Given the description of an element on the screen output the (x, y) to click on. 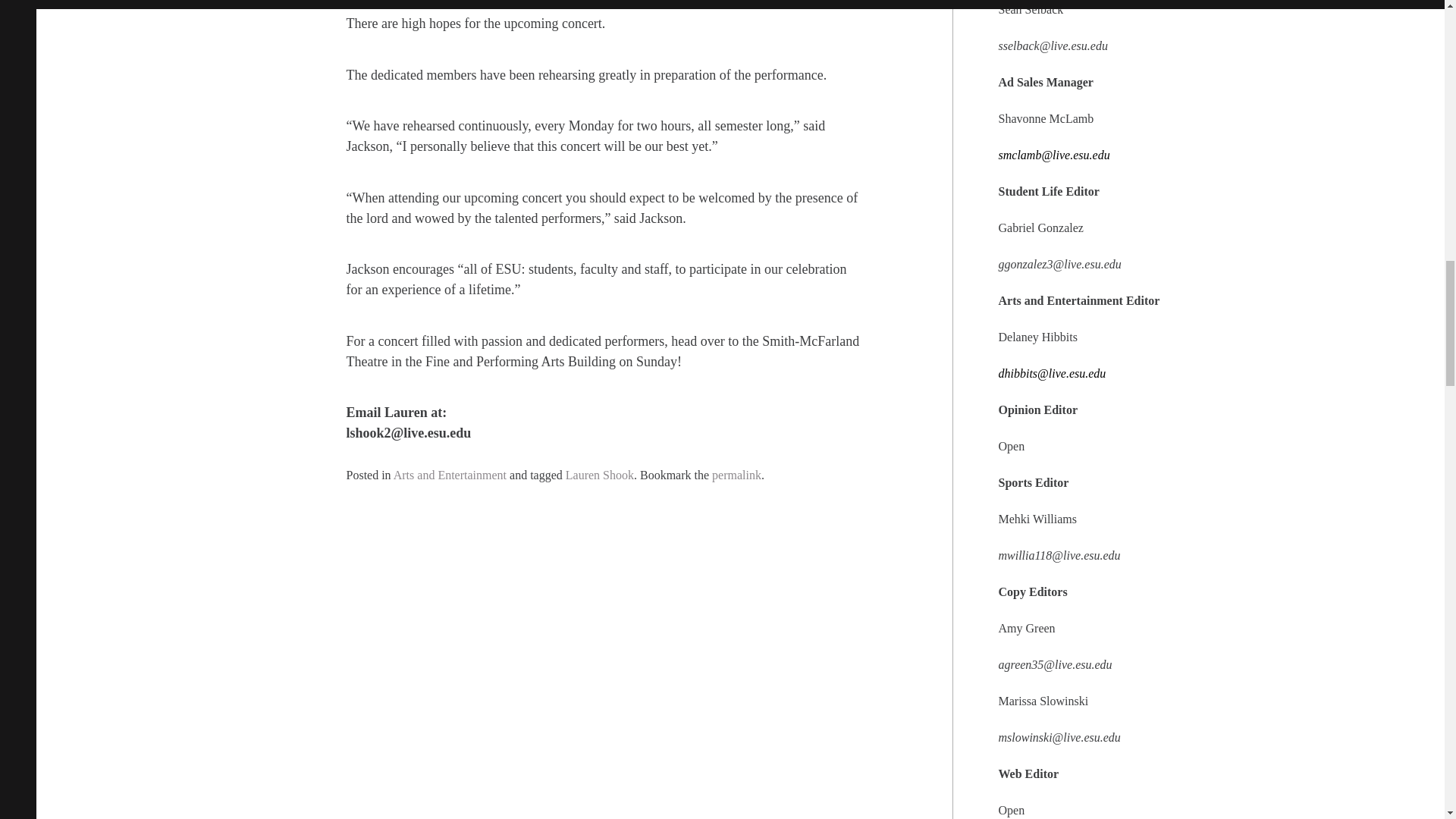
permalink (736, 474)
Lauren Shook (599, 474)
Arts and Entertainment (449, 474)
